Given the description of an element on the screen output the (x, y) to click on. 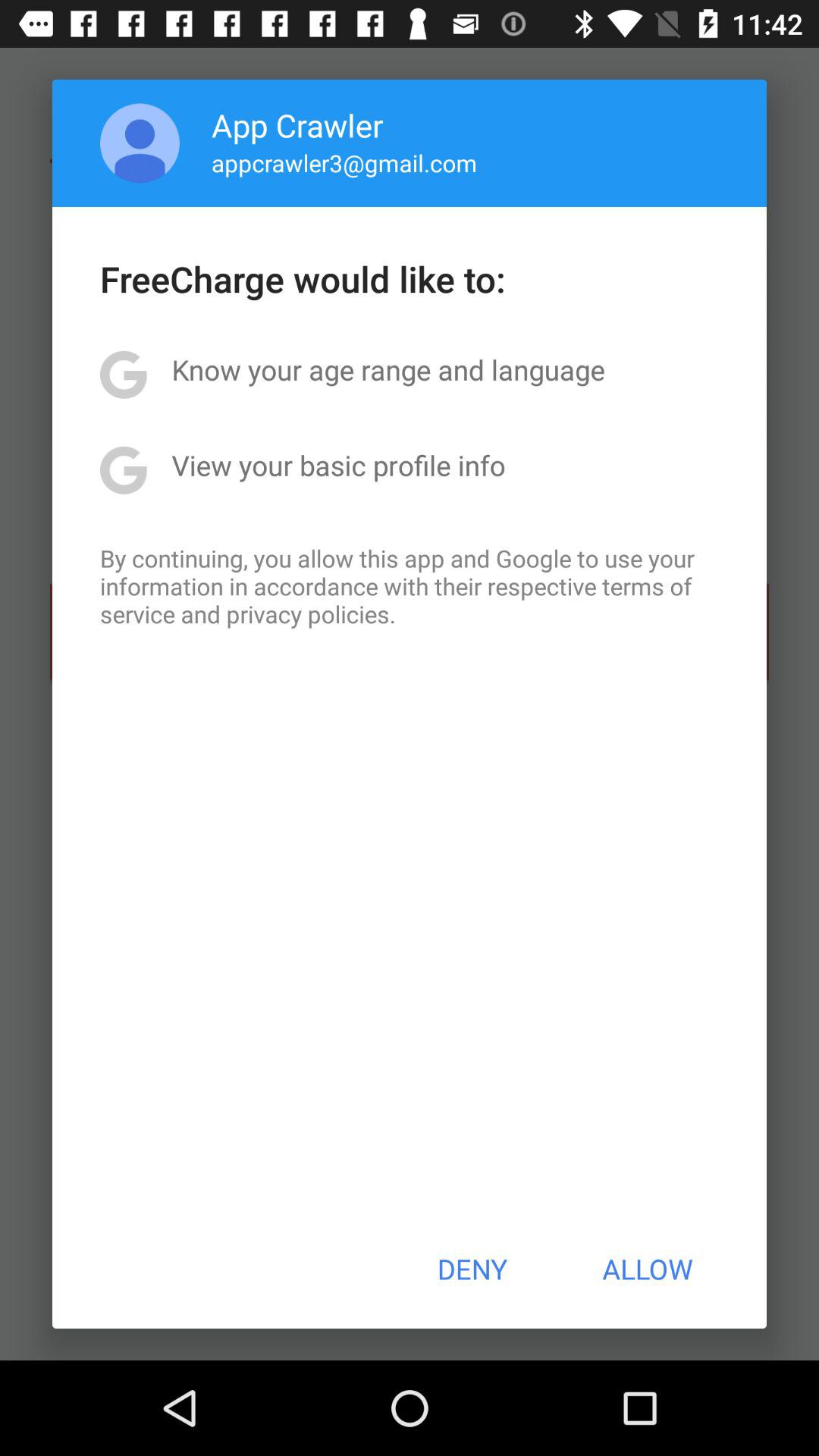
click item above freecharge would like item (344, 162)
